Given the description of an element on the screen output the (x, y) to click on. 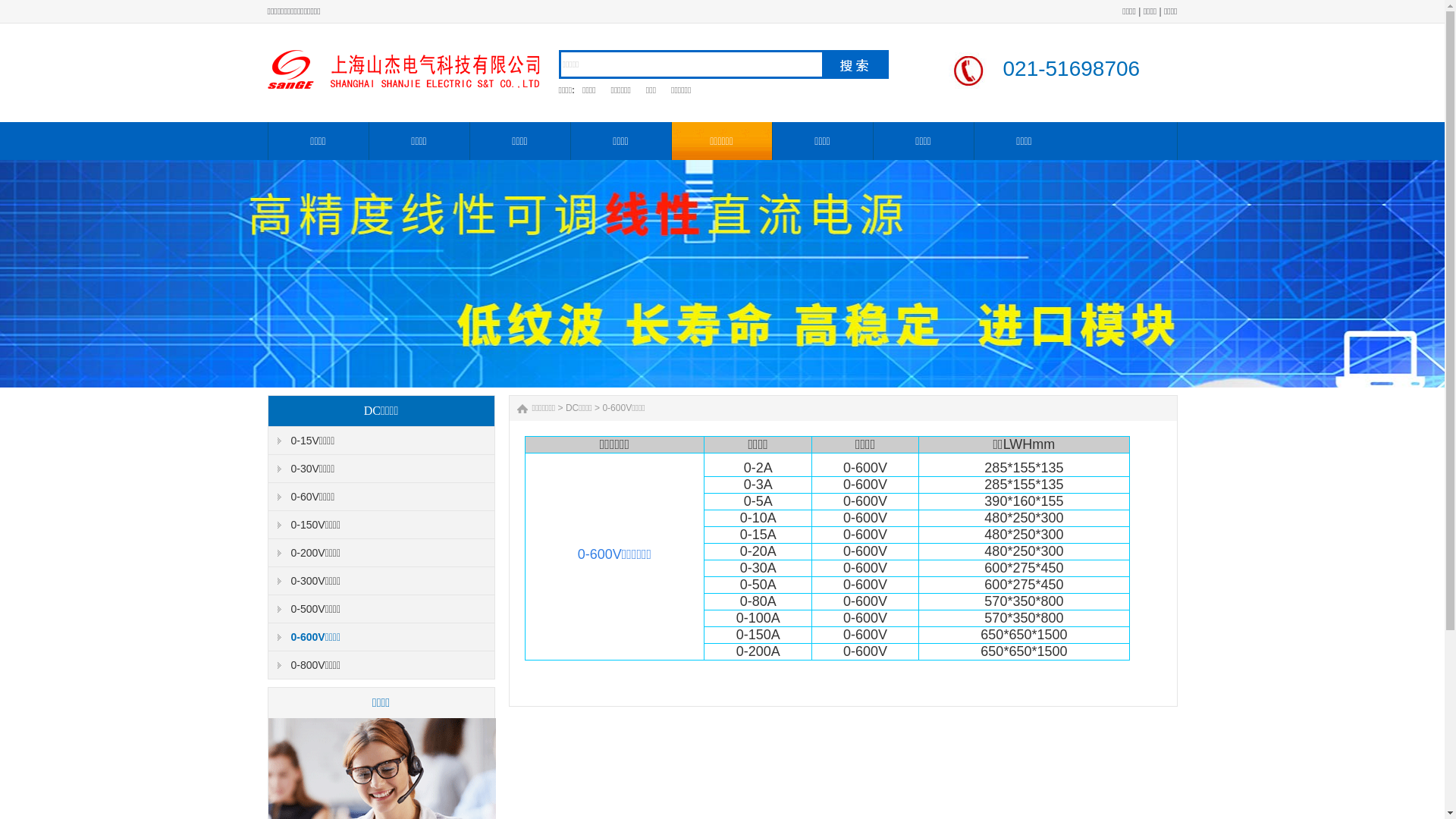
  Element type: text (855, 64)
